Given the description of an element on the screen output the (x, y) to click on. 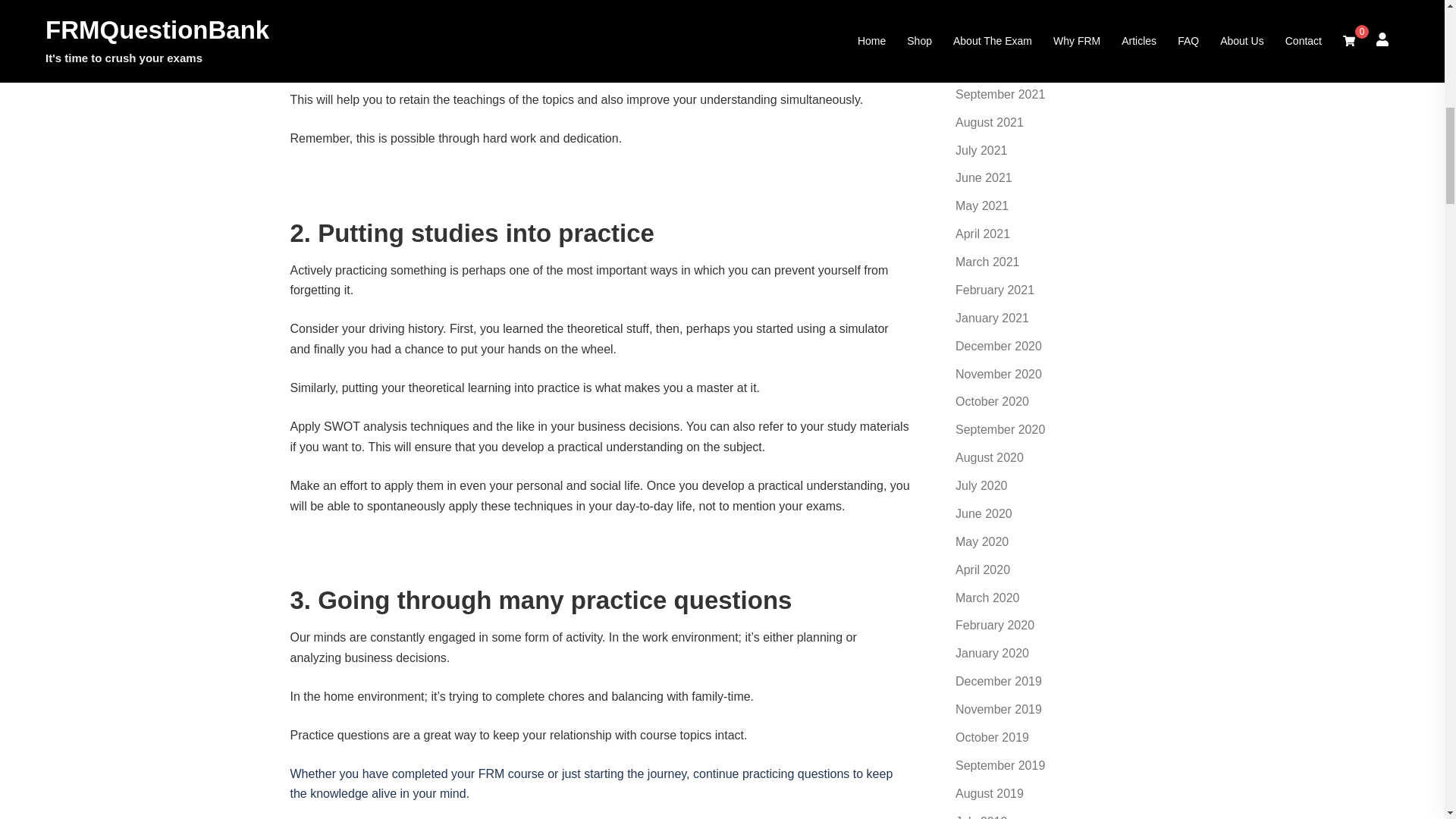
financial field (814, 4)
